Given the description of an element on the screen output the (x, y) to click on. 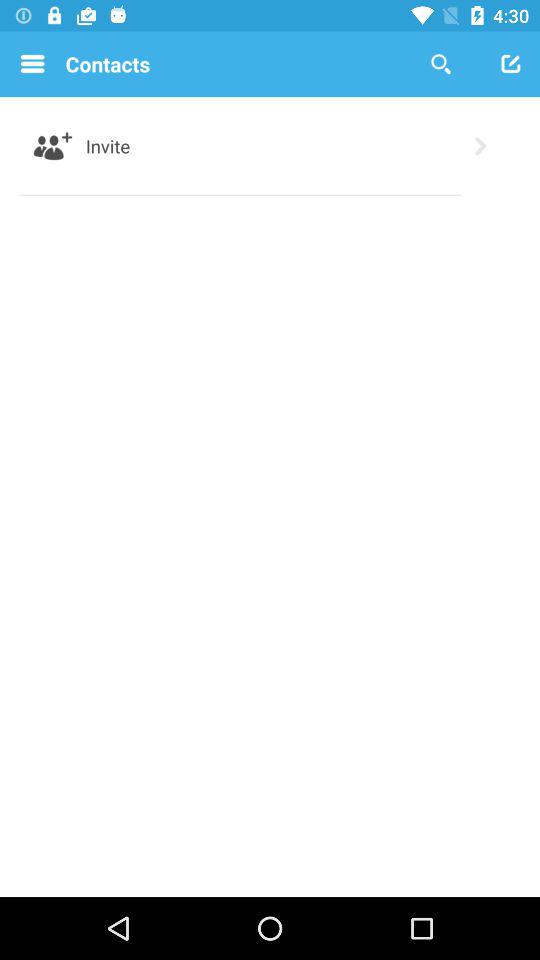
select the item next to invite (480, 146)
